Given the description of an element on the screen output the (x, y) to click on. 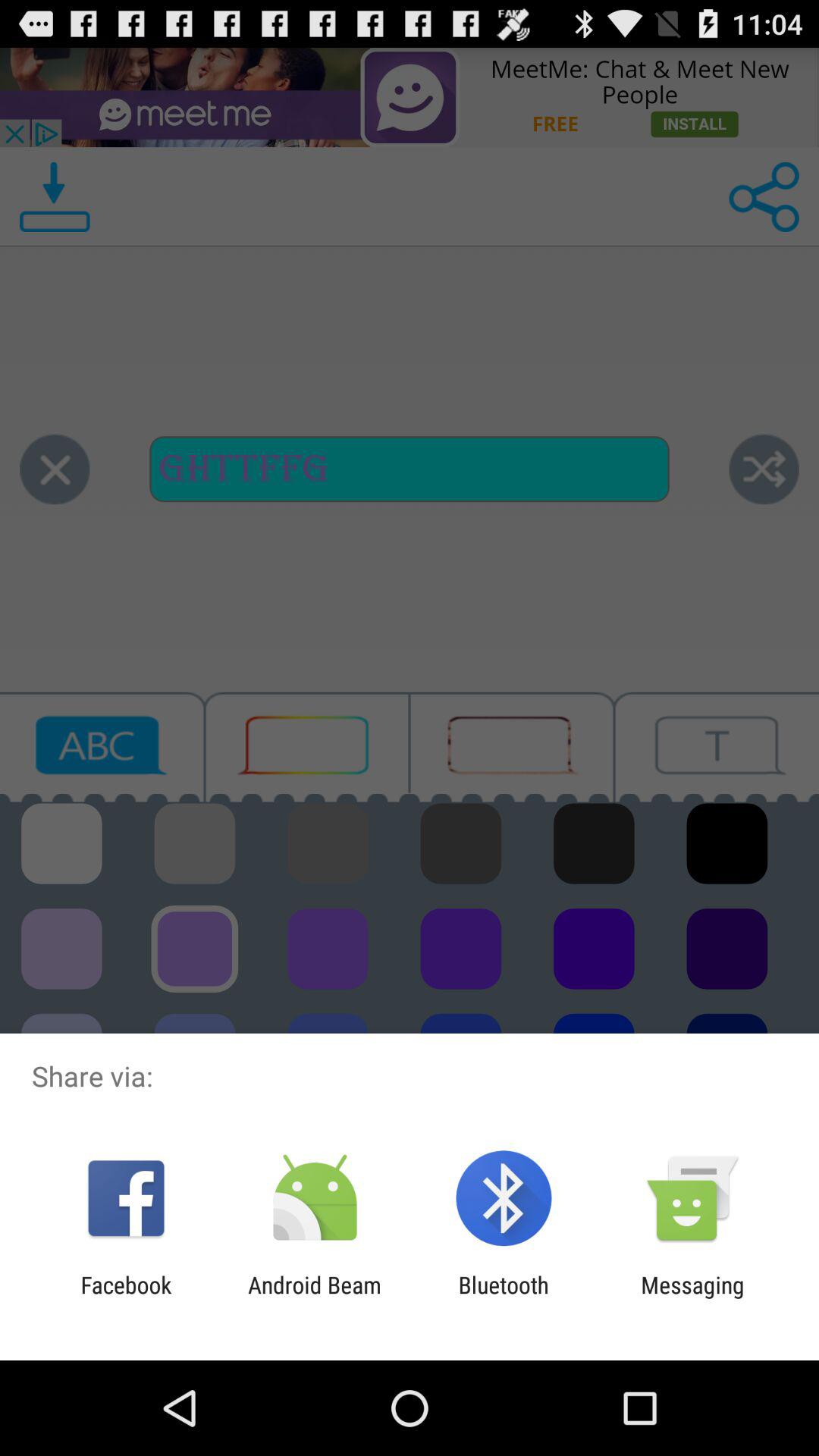
choose item next to the facebook app (314, 1298)
